Given the description of an element on the screen output the (x, y) to click on. 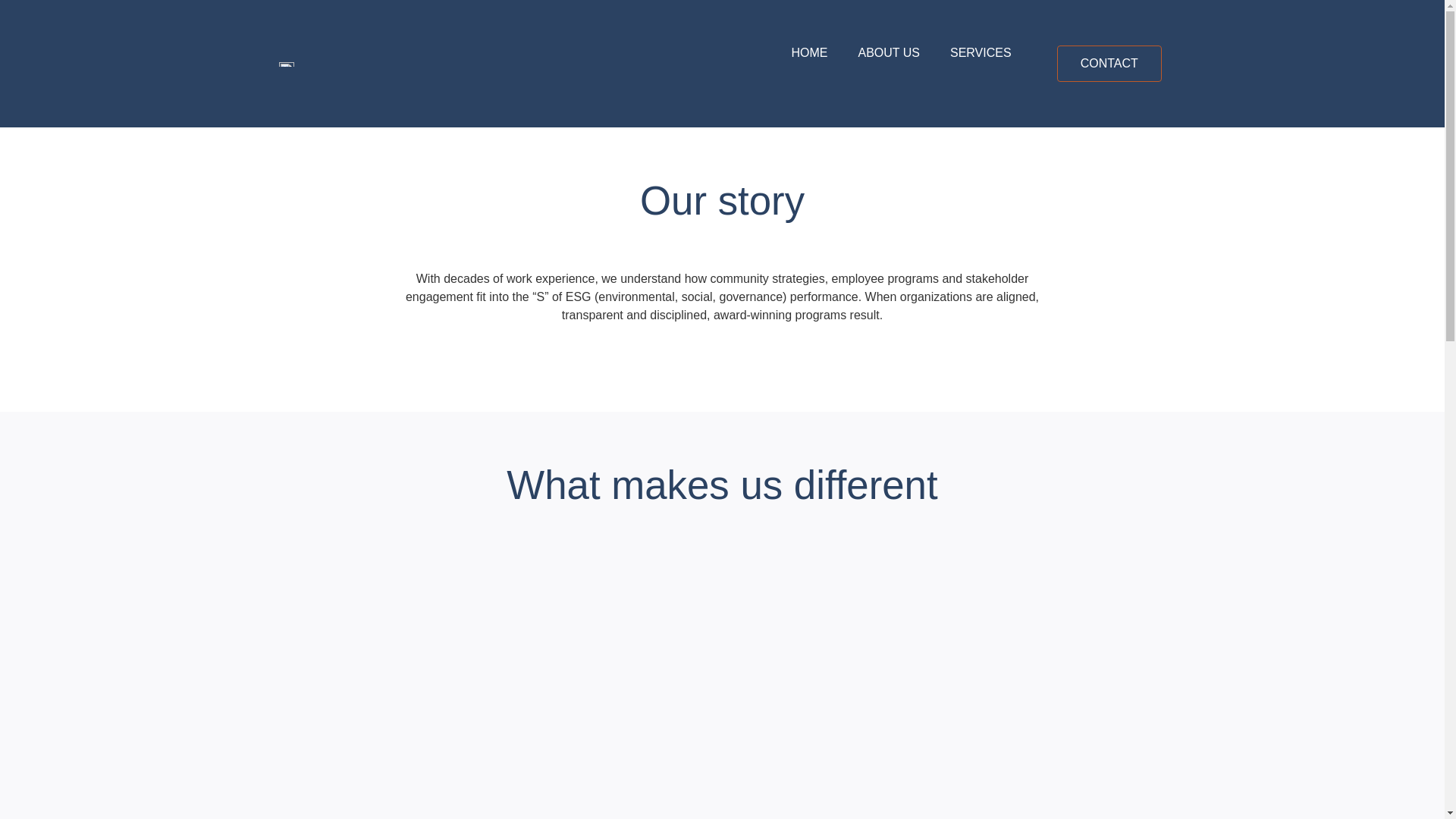
SERVICES (980, 53)
CONTACT (1109, 63)
HOME (809, 53)
ABOUT US (889, 53)
